Given the description of an element on the screen output the (x, y) to click on. 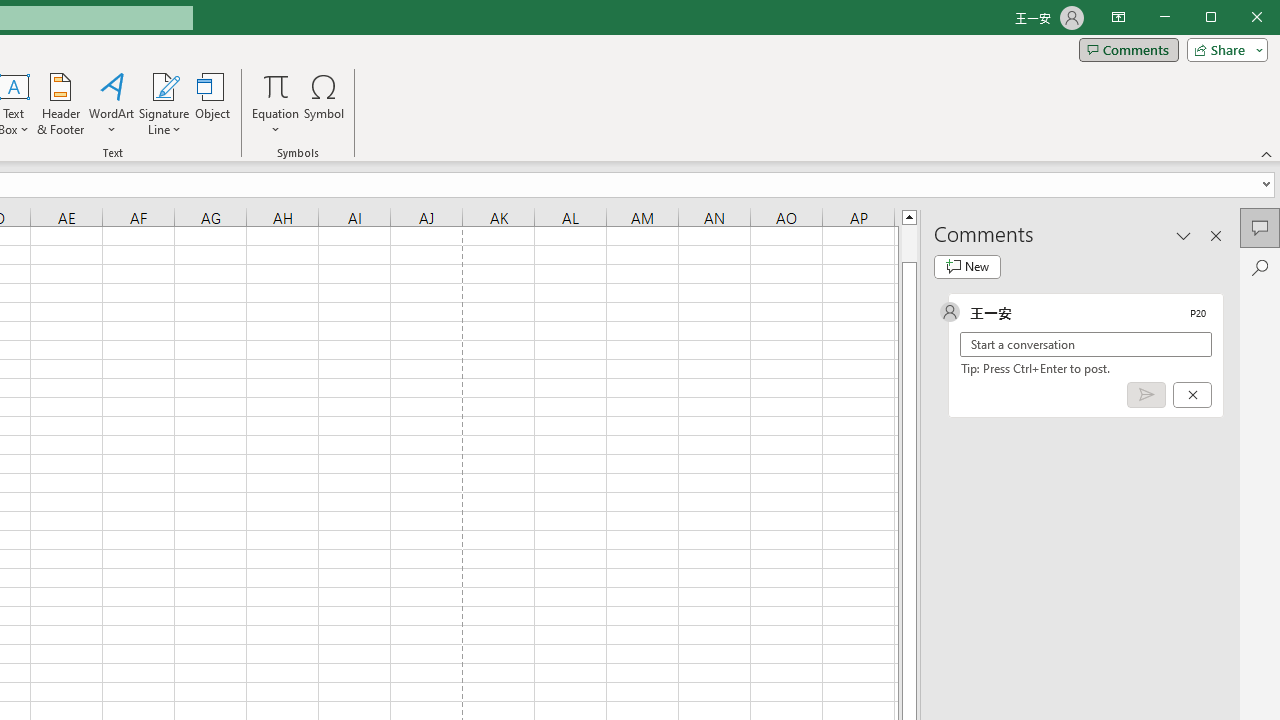
Maximize (1239, 18)
Equation (275, 86)
Object... (213, 104)
Signature Line (164, 86)
Cancel (1192, 395)
Signature Line (164, 104)
New comment (967, 266)
